Given the description of an element on the screen output the (x, y) to click on. 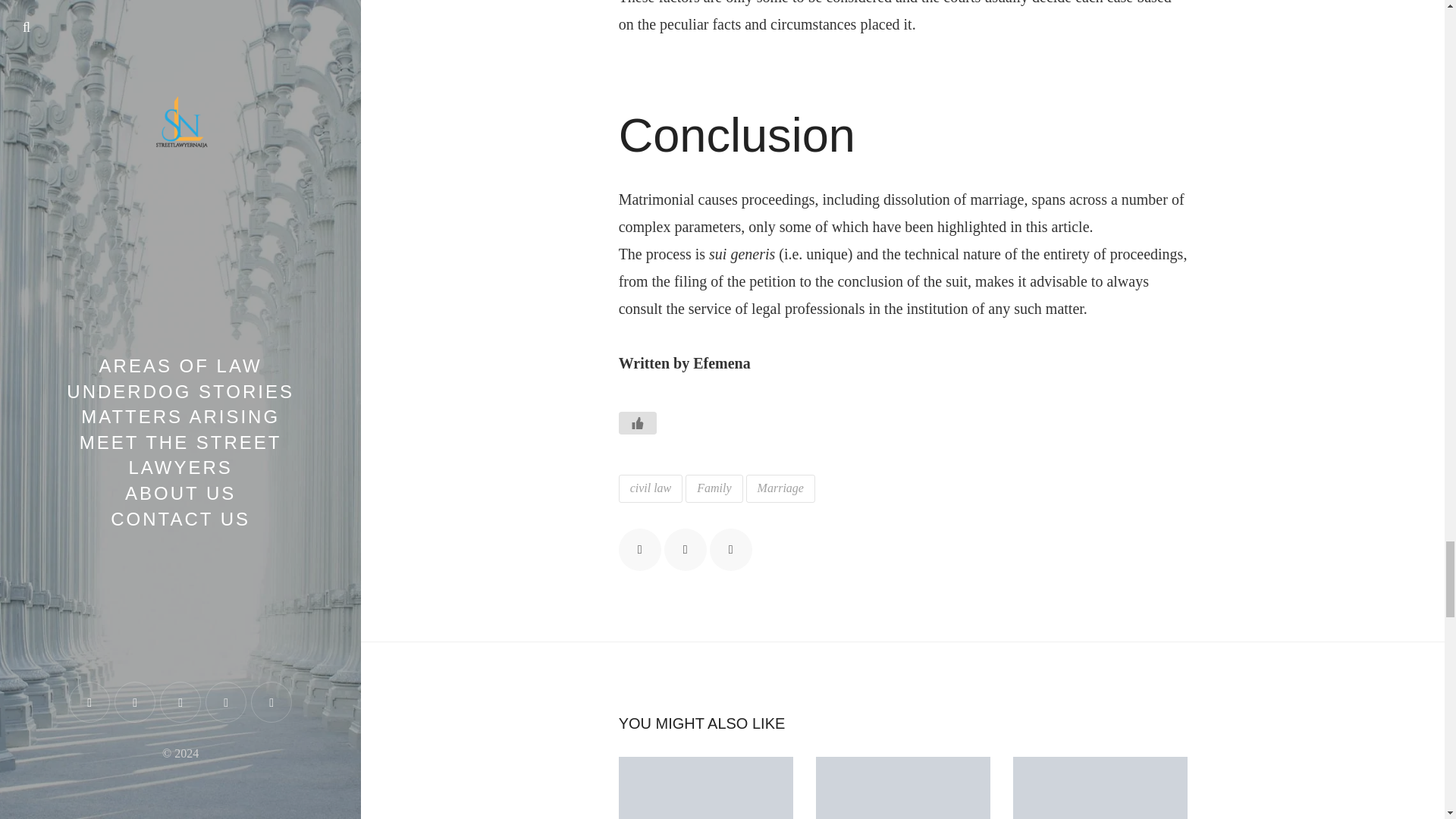
Pin It (731, 549)
Tweet It (684, 549)
Share on Facebook (639, 549)
